Given the description of an element on the screen output the (x, y) to click on. 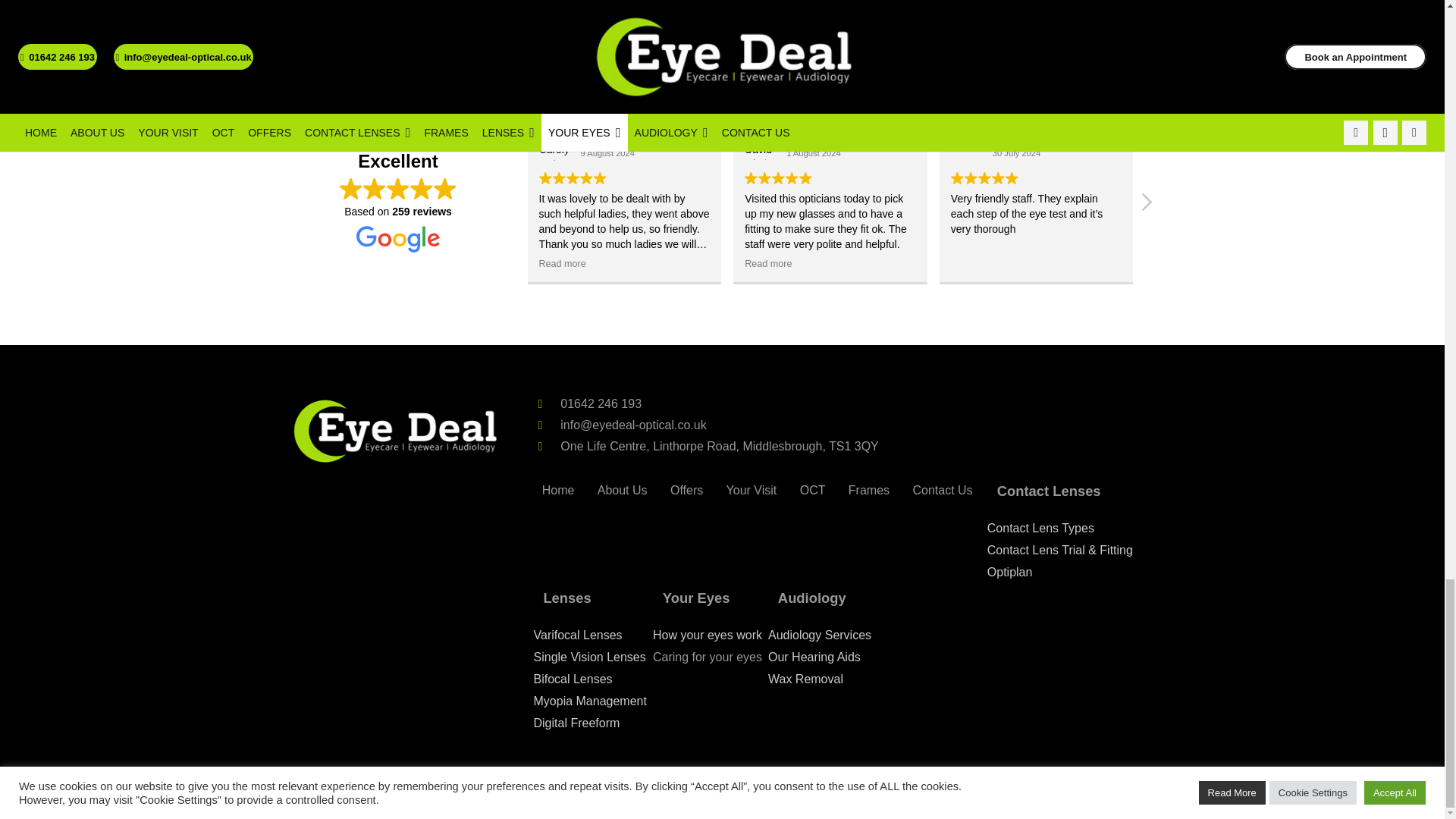
OCT (813, 490)
Contact Lenses (1059, 490)
Home (558, 490)
Your Visit (750, 490)
Contact Us (942, 490)
Offers (686, 490)
Frames (869, 490)
About Us (622, 490)
